Given the description of an element on the screen output the (x, y) to click on. 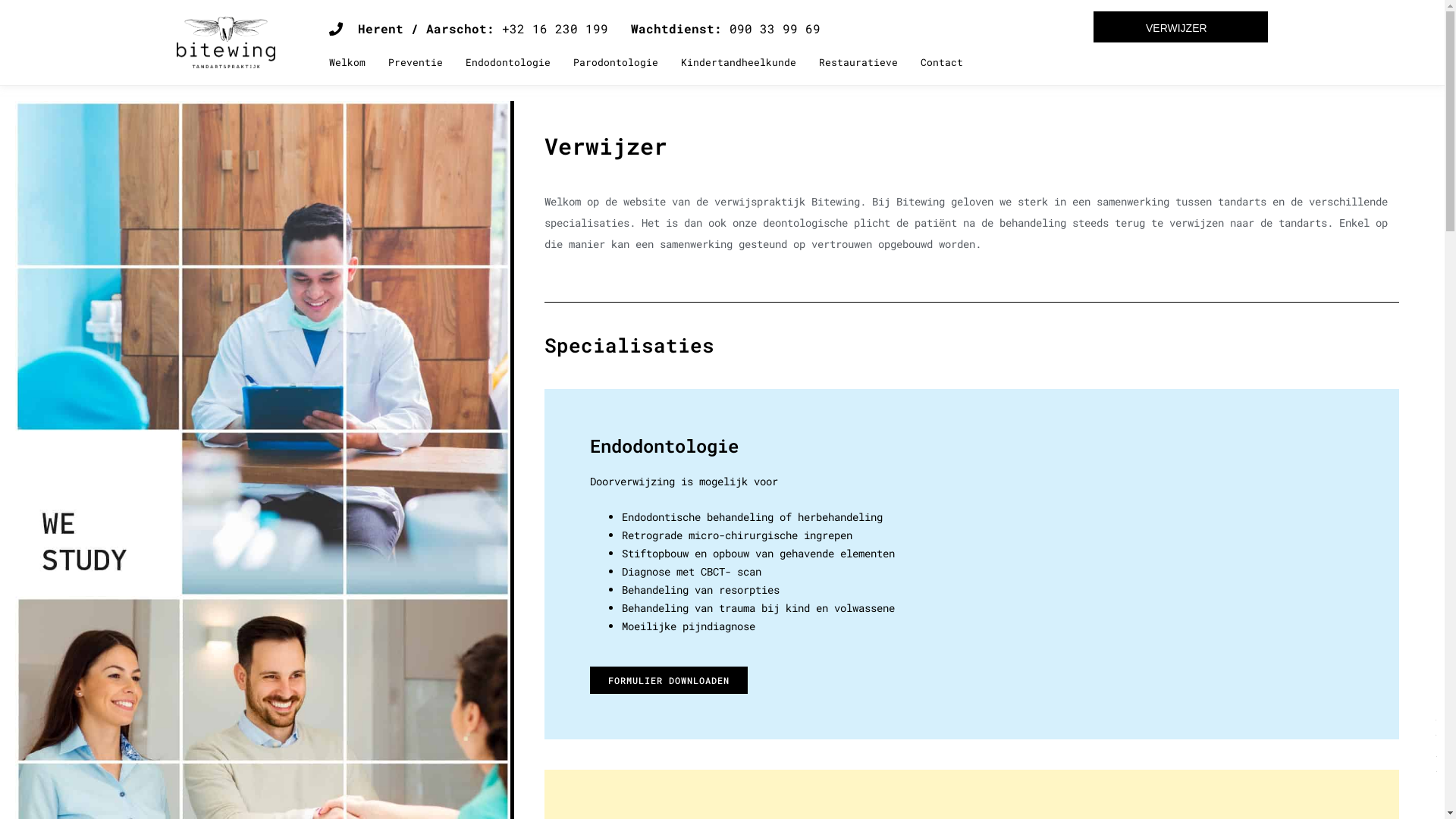
Herent / Aarschot: +32 16 230 199 Element type: text (468, 28)
Kindertandheelkunde Element type: text (738, 61)
FORMULIER DOWNLOADEN Element type: text (668, 679)
Preventie Element type: text (415, 61)
Endodontologie Element type: text (507, 61)
Welkom Element type: text (347, 61)
VERWIJZER Element type: text (1180, 26)
Wachtdienst: 090 33 99 69 Element type: text (725, 28)
Contact Element type: text (941, 61)
3D TOUR Element type: text (722, 745)
Restauratieve Element type: text (858, 61)
Parodontologie Element type: text (615, 61)
